Given the description of an element on the screen output the (x, y) to click on. 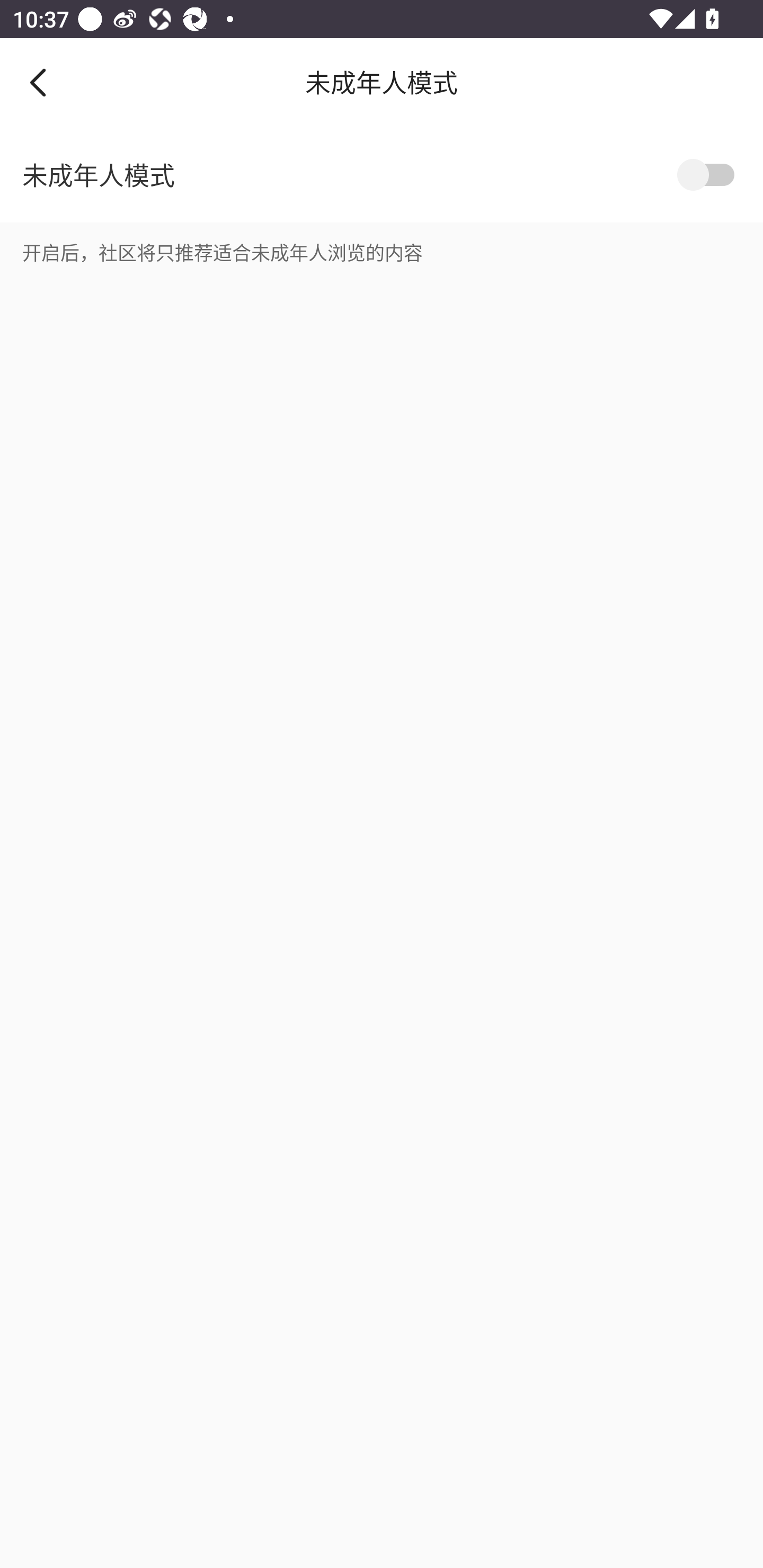
Left Button In Title Bar (50, 82)
OFF (708, 174)
